Given the description of an element on the screen output the (x, y) to click on. 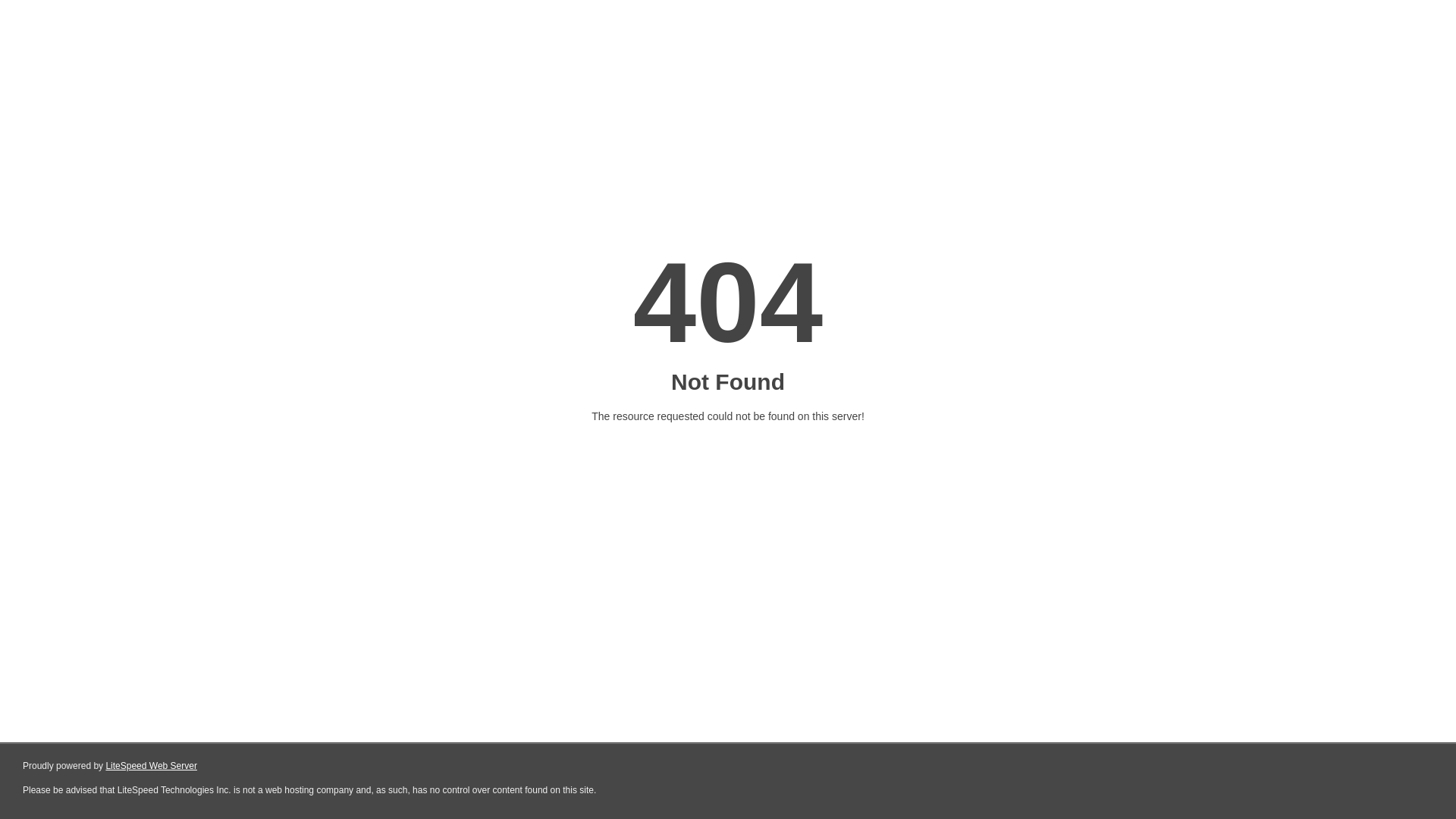
LiteSpeed Web Server Element type: text (151, 765)
